Given the description of an element on the screen output the (x, y) to click on. 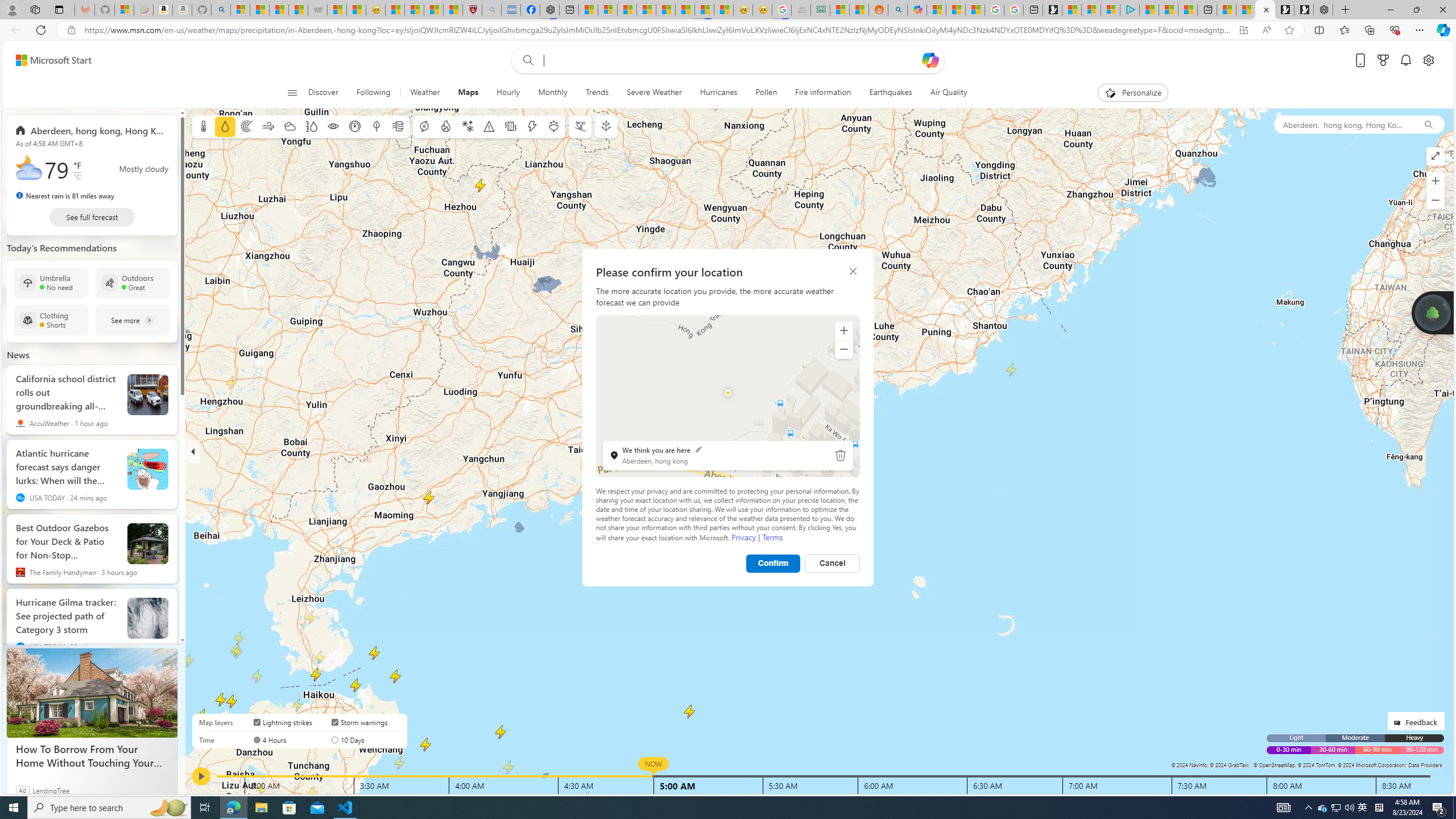
AutomationID: radioButton-DS-EntryPoint1-1-layer-subtype-1-1 (334, 739)
These 3 Stocks Pay You More Than 5% to Own Them (1187, 9)
Skip to content (49, 59)
Ad (22, 790)
Fire information (822, 92)
14 Common Myths Debunked By Scientific Facts (664, 9)
Open Copilot (930, 59)
AutomationID: radioButton-DS-EntryPoint1-1-layer-subtype-1-0 (256, 739)
Personalize (1132, 92)
